Given the description of an element on the screen output the (x, y) to click on. 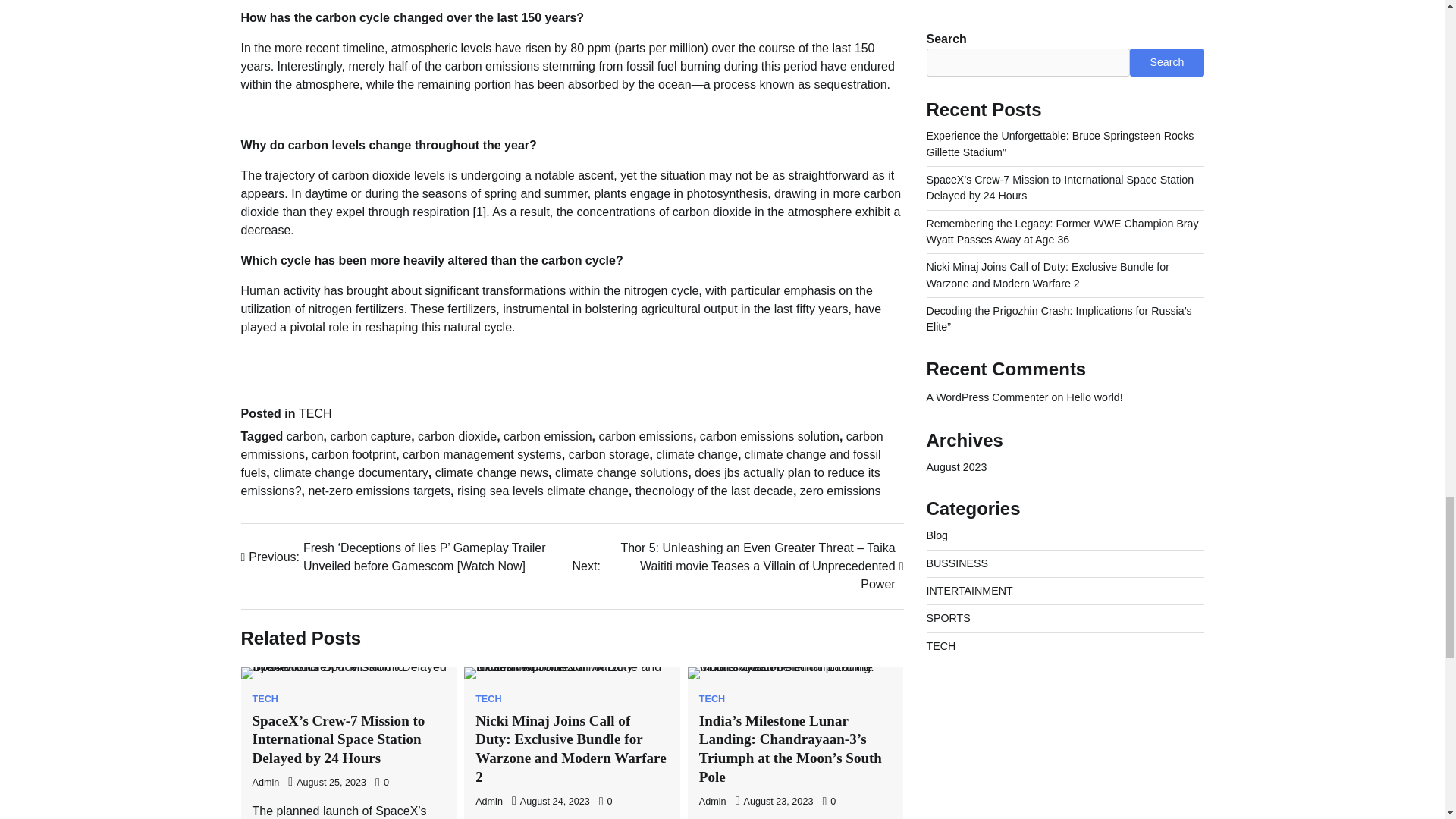
carbon emmissions (562, 445)
carbon emissions solution (770, 436)
climate change news (491, 472)
carbon dioxide (456, 436)
climate change documentary (350, 472)
carbon emission (547, 436)
carbon footprint (353, 454)
climate change and fossil fuels (560, 463)
carbon emissions (645, 436)
climate change solutions (620, 472)
climate change (697, 454)
carbon storage (609, 454)
carbon capture (370, 436)
carbon (304, 436)
TECH (314, 413)
